Given the description of an element on the screen output the (x, y) to click on. 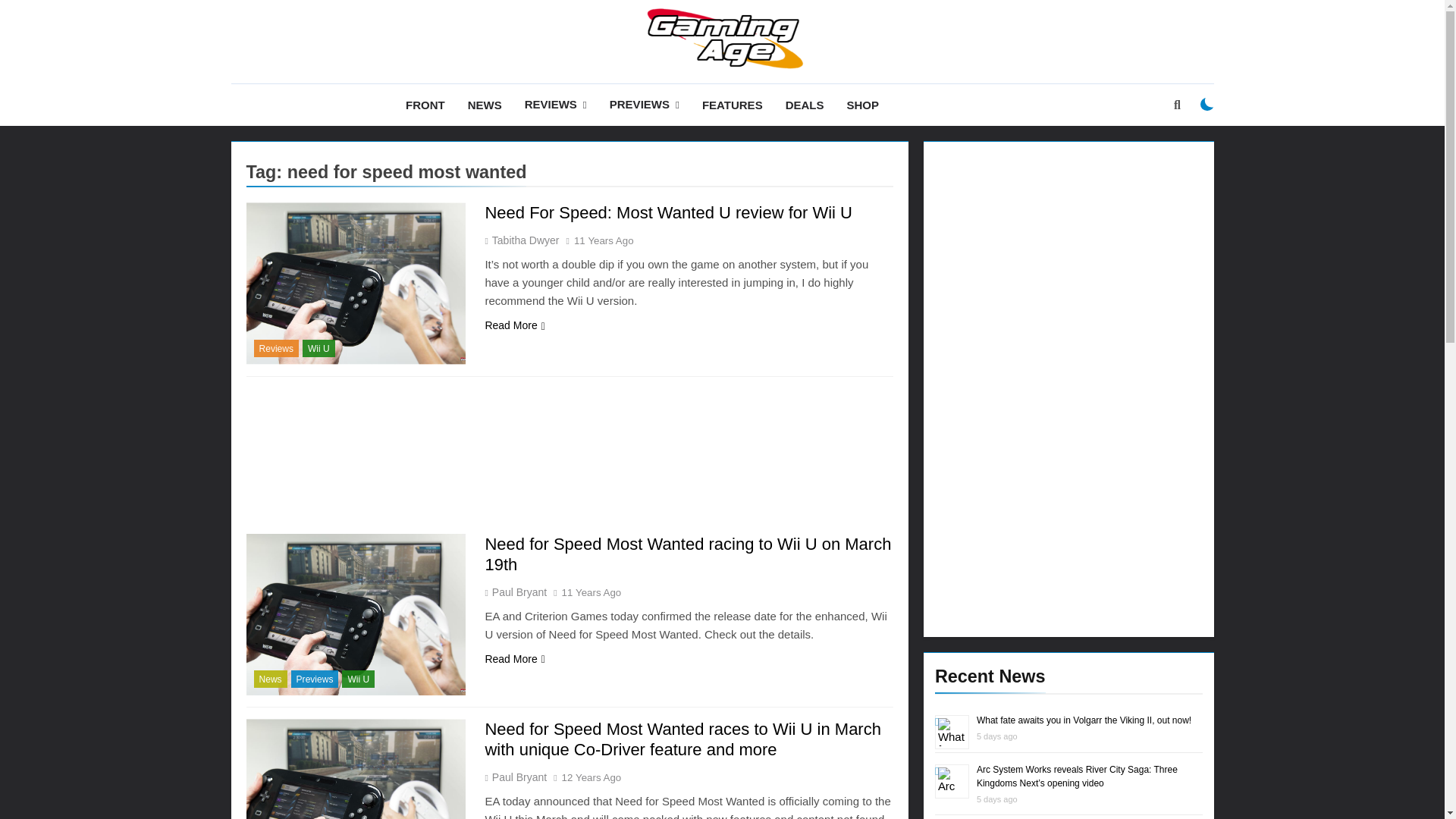
REVIEWS (555, 105)
Need For Speed: Most Wanted U review for Wii U (667, 212)
Gaming Age (571, 92)
Need for Speed Most Wanted racing to Wii U on March 19th (355, 614)
FRONT (425, 105)
NEWS (485, 105)
DEALS (804, 105)
SHOP (861, 105)
